Given the description of an element on the screen output the (x, y) to click on. 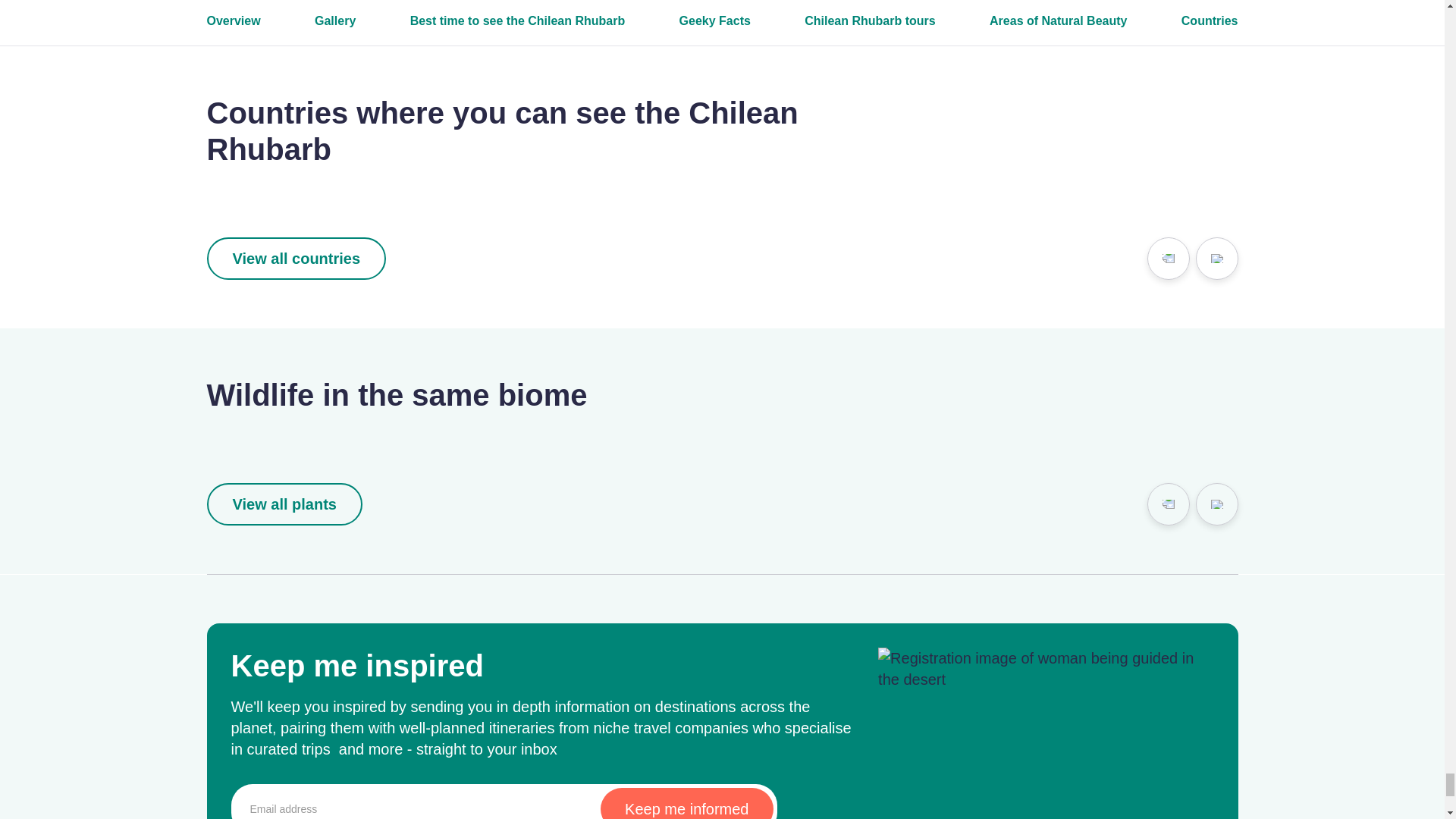
Keep me informed (686, 803)
